Given the description of an element on the screen output the (x, y) to click on. 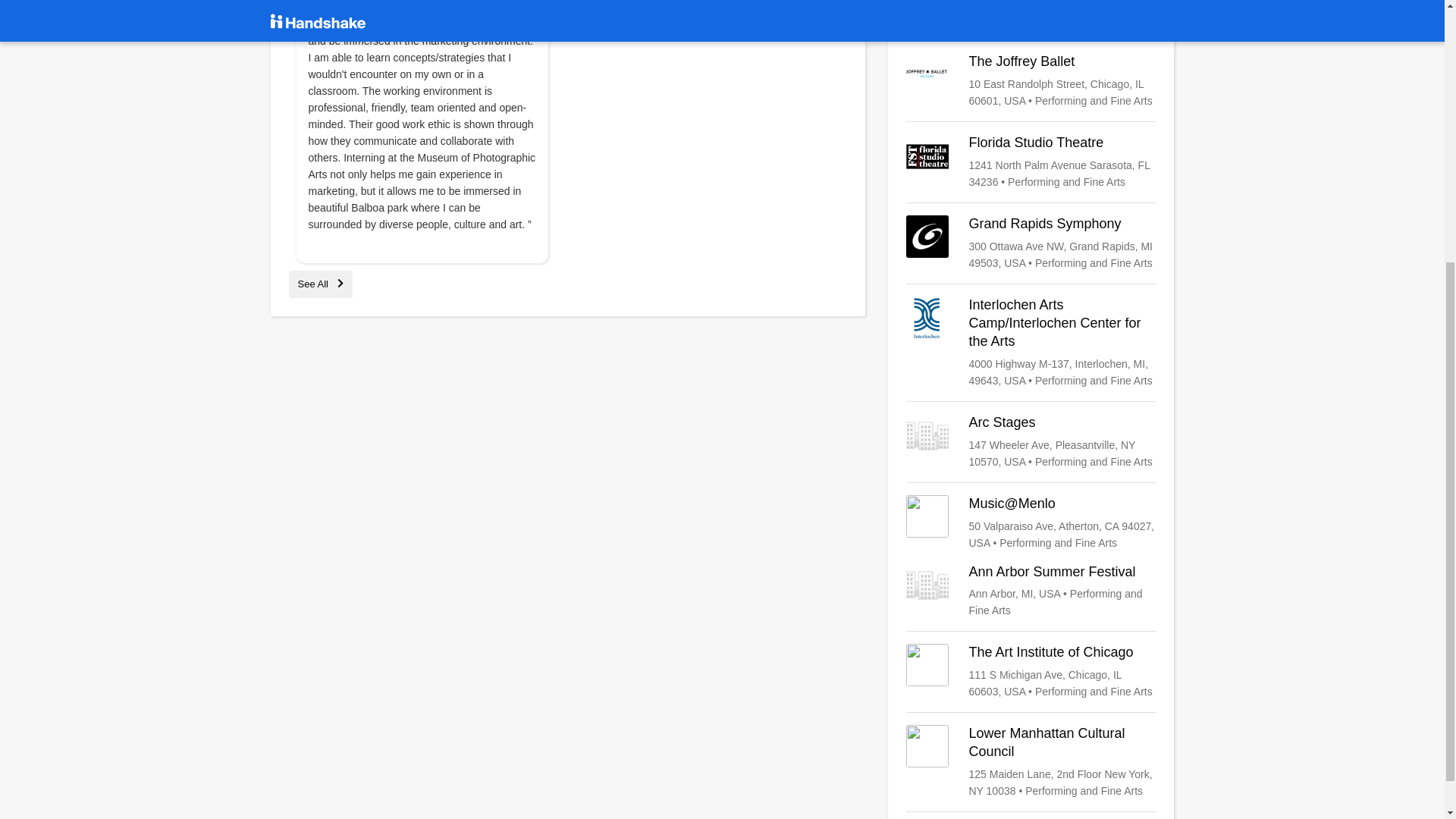
The Joffrey Ballet (1030, 80)
Ann Arbor Summer Festival (1030, 591)
See All (320, 283)
Arc Stages (1030, 442)
Grand Rapids Symphony (1030, 243)
Lower Manhattan Cultural Council (1030, 761)
Goodman Theatre (1030, 13)
The Art Institute of Chicago (1030, 671)
Florida Studio Theatre (1030, 162)
